Given the description of an element on the screen output the (x, y) to click on. 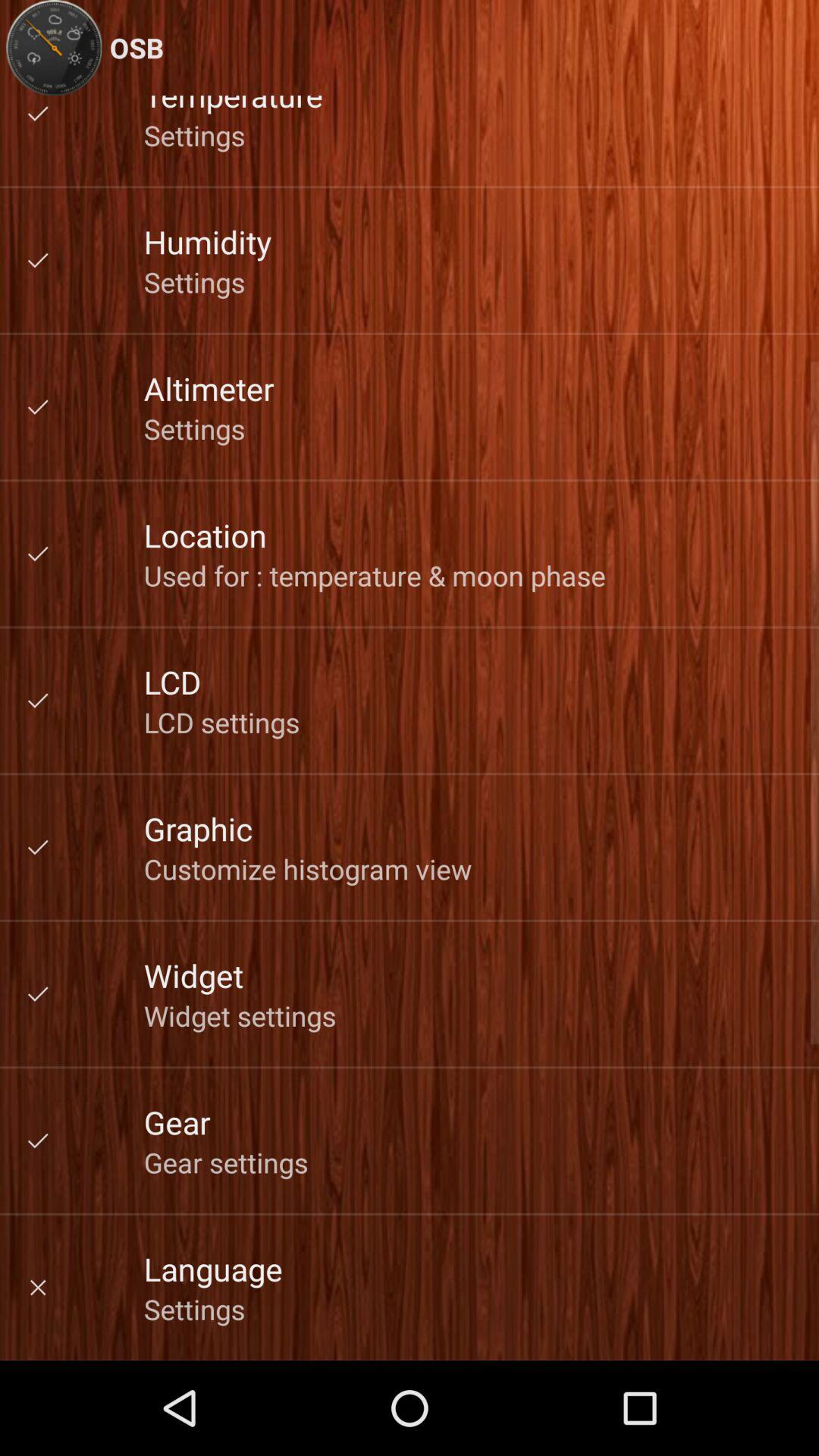
press the icon above language app (225, 1162)
